Given the description of an element on the screen output the (x, y) to click on. 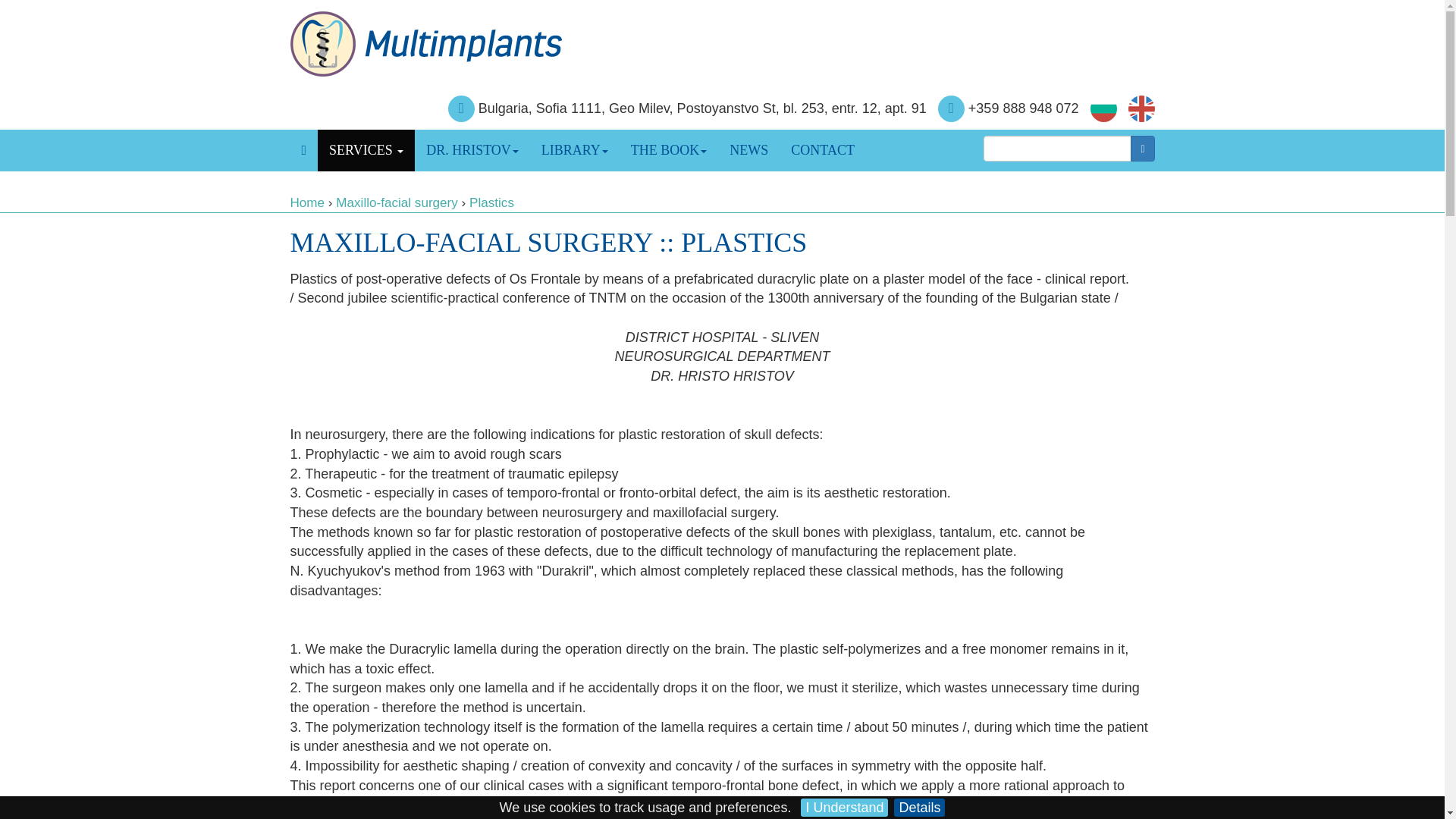
Details (918, 807)
CONTACT (822, 150)
SERVICES (365, 150)
Plastics (490, 202)
LIBRARY (574, 150)
www.multimplants.com (306, 202)
Maxillo-facial surgery (397, 202)
THE BOOK (669, 150)
I Understand (844, 807)
NEWS (747, 150)
